Given the description of an element on the screen output the (x, y) to click on. 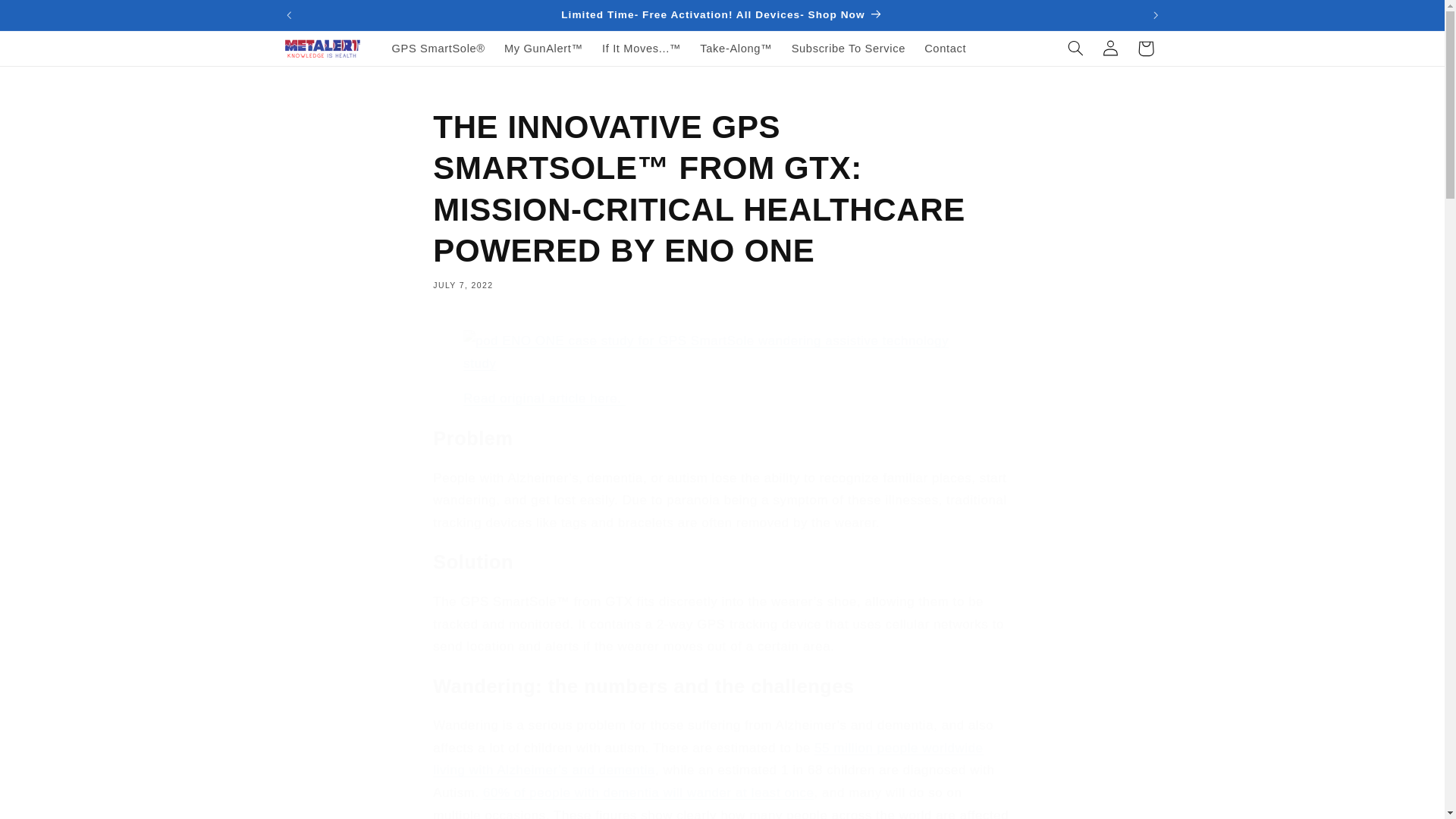
Cart (1145, 48)
Limited Time- Free Activation! All Devices- Shop Now (721, 15)
Contact (945, 48)
Subscribe To Service (847, 48)
ENO One Case Study for GPS SmartSole (544, 398)
Read original article here.  (544, 398)
Log in (1110, 48)
Skip to content (47, 17)
